Given the description of an element on the screen output the (x, y) to click on. 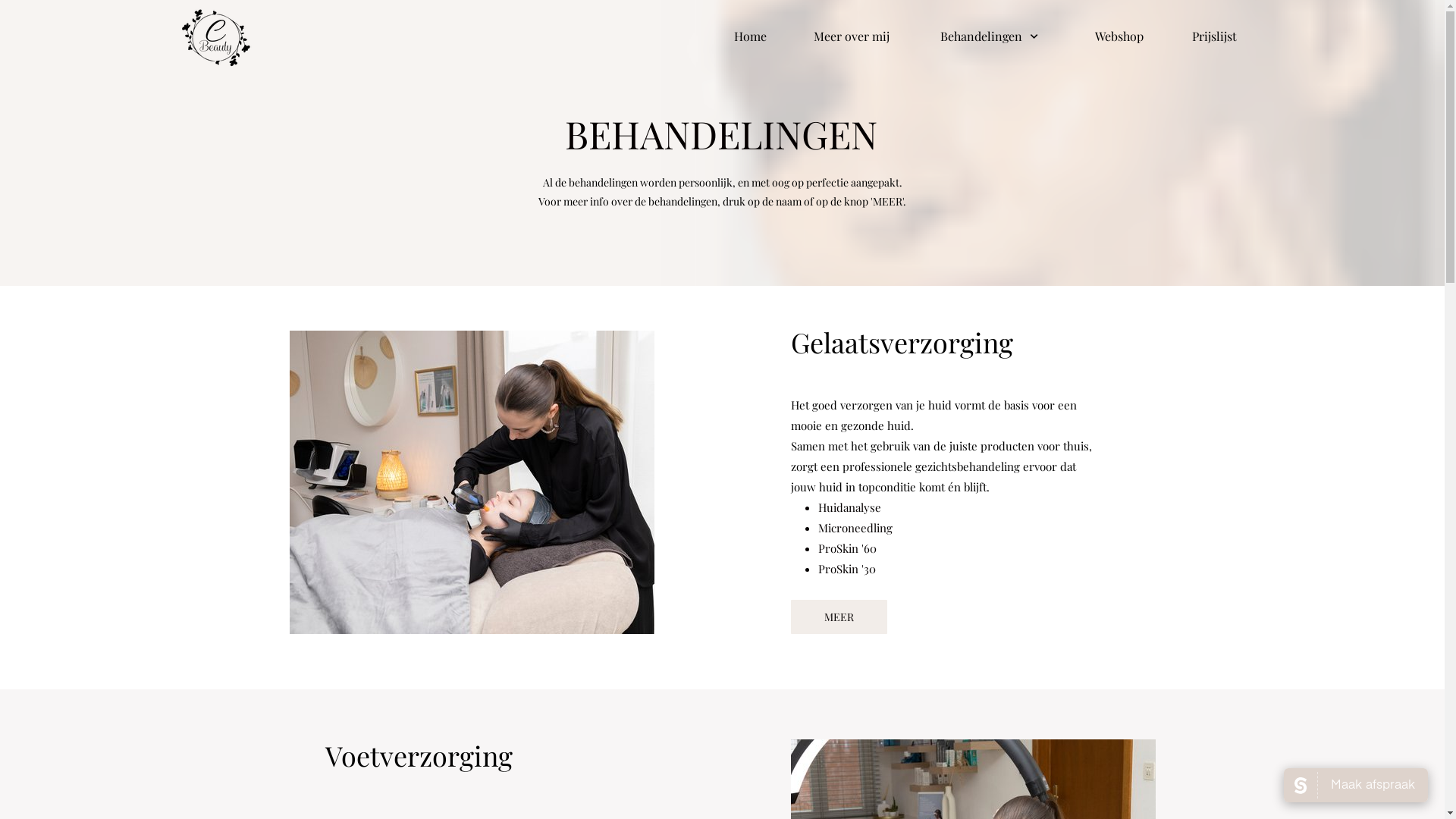
ProSkin '60 Element type: text (846, 547)
Prijslijst Element type: text (1216, 35)
ProSkin '30 Element type: text (846, 568)
MEER Element type: text (838, 616)
Home Element type: text (753, 35)
Webshop Element type: text (1123, 35)
Huidanalyse Element type: text (848, 506)
Meer over mij Element type: text (856, 35)
Microneedling Element type: text (854, 527)
Behandelingen Element type: text (997, 35)
